Given the description of an element on the screen output the (x, y) to click on. 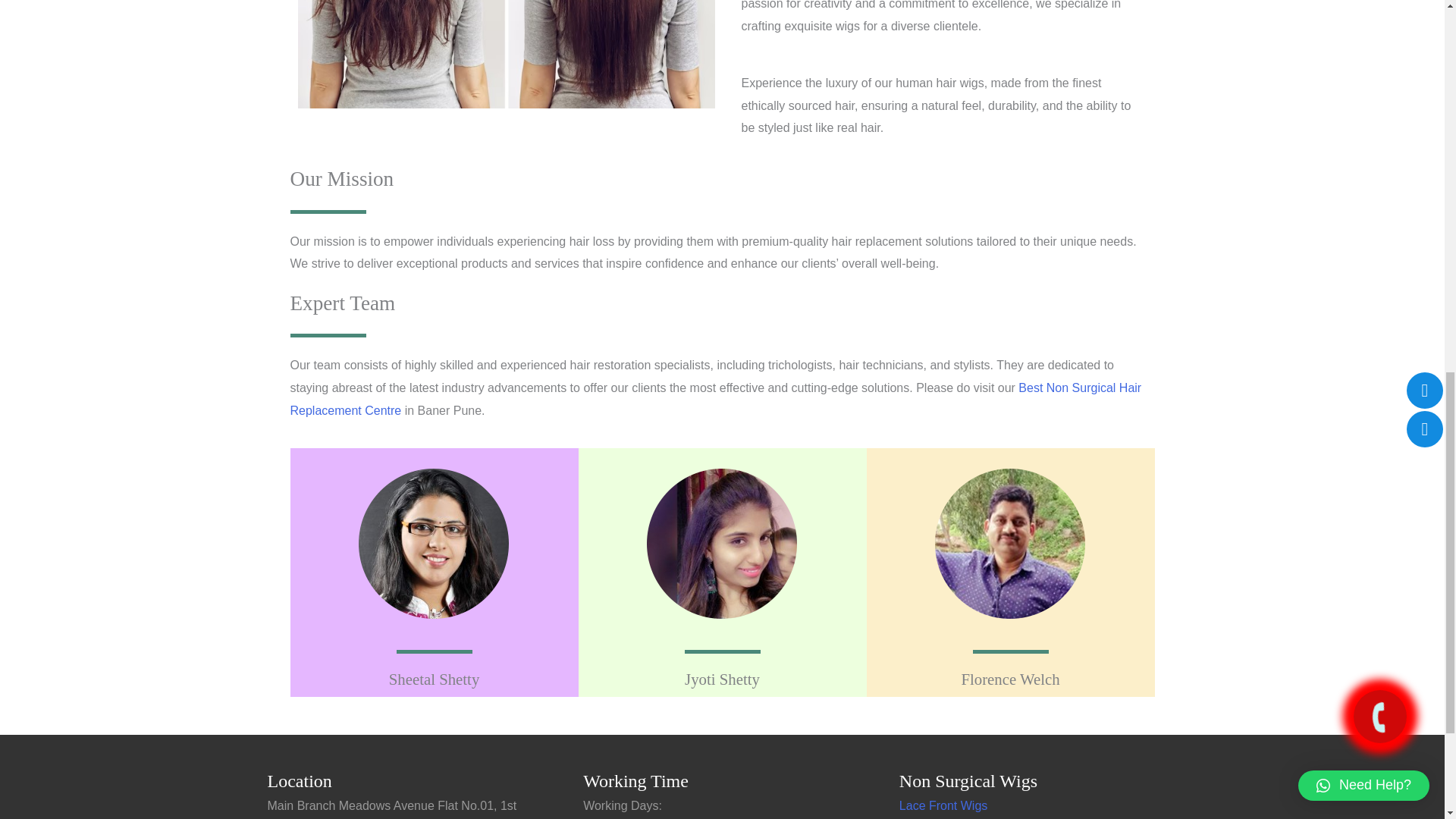
Best Non Surgical Hair Replacement Centre (715, 398)
Lace Front Wigs (943, 805)
